Given the description of an element on the screen output the (x, y) to click on. 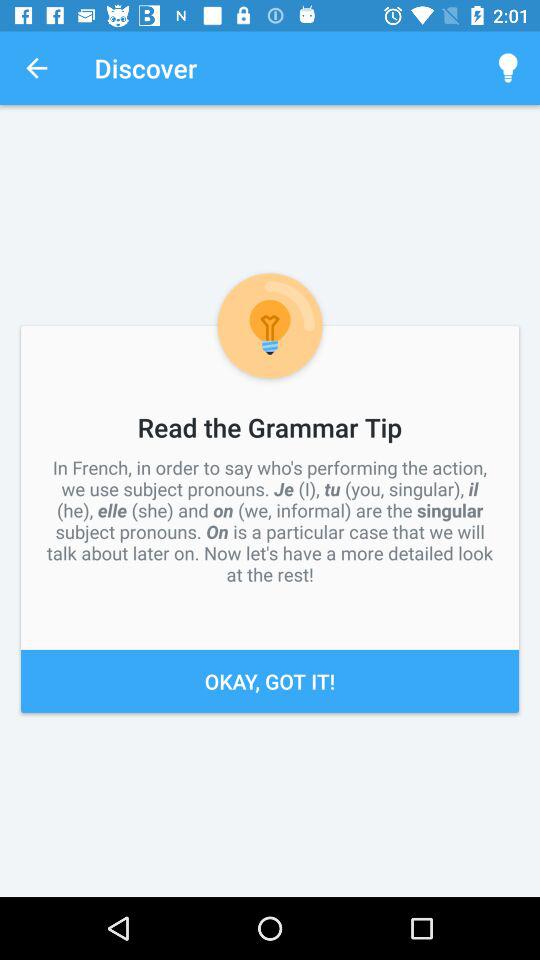
launch the icon above in french in (36, 68)
